Given the description of an element on the screen output the (x, y) to click on. 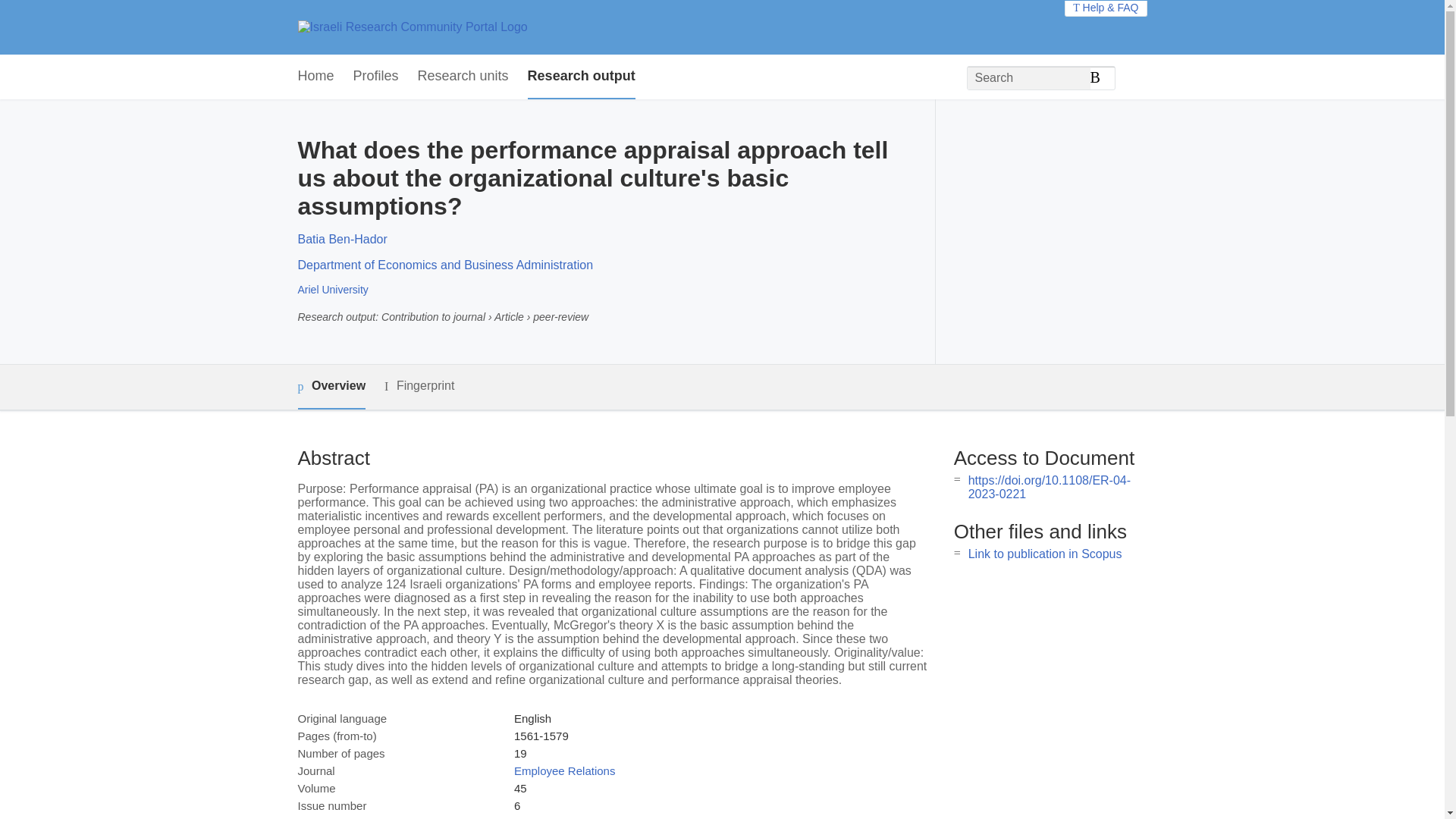
Batia Ben-Hador (342, 238)
Ariel University (332, 289)
Profiles (375, 76)
Overview (331, 386)
Israeli Research Community Portal Home (412, 27)
Research units (462, 76)
Link to publication in Scopus (1045, 553)
Department of Economics and Business Administration (444, 264)
Research output (580, 76)
Fingerprint (419, 385)
